Given the description of an element on the screen output the (x, y) to click on. 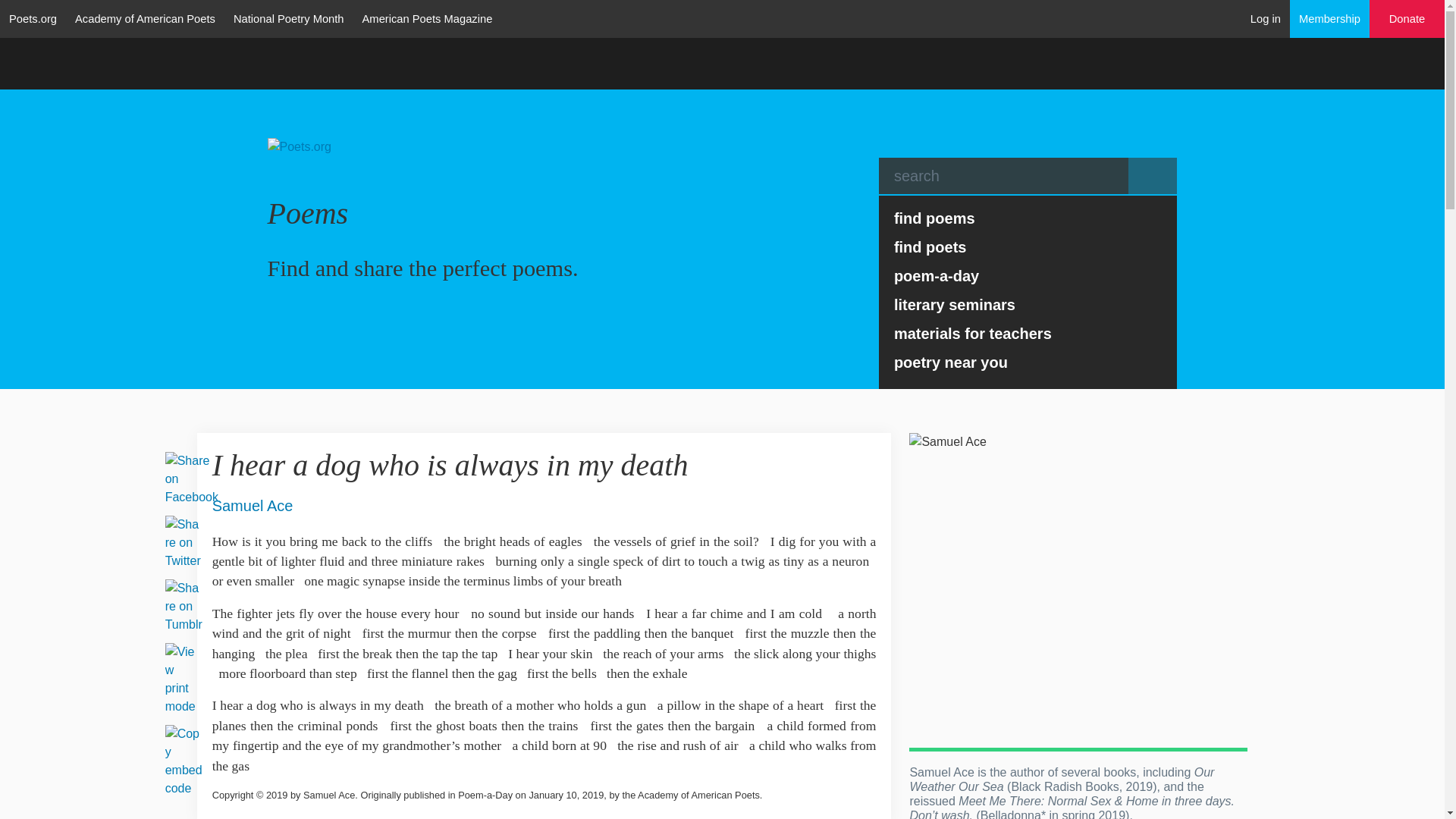
Share on Twitter (182, 541)
Membership (1330, 18)
literary seminars (1028, 304)
Load audio player (860, 462)
find poets (1028, 246)
Share on Tumblr (183, 604)
find poems (1028, 217)
poetry near you (1028, 362)
Donate (1407, 18)
Share on Facebook (191, 477)
